Given the description of an element on the screen output the (x, y) to click on. 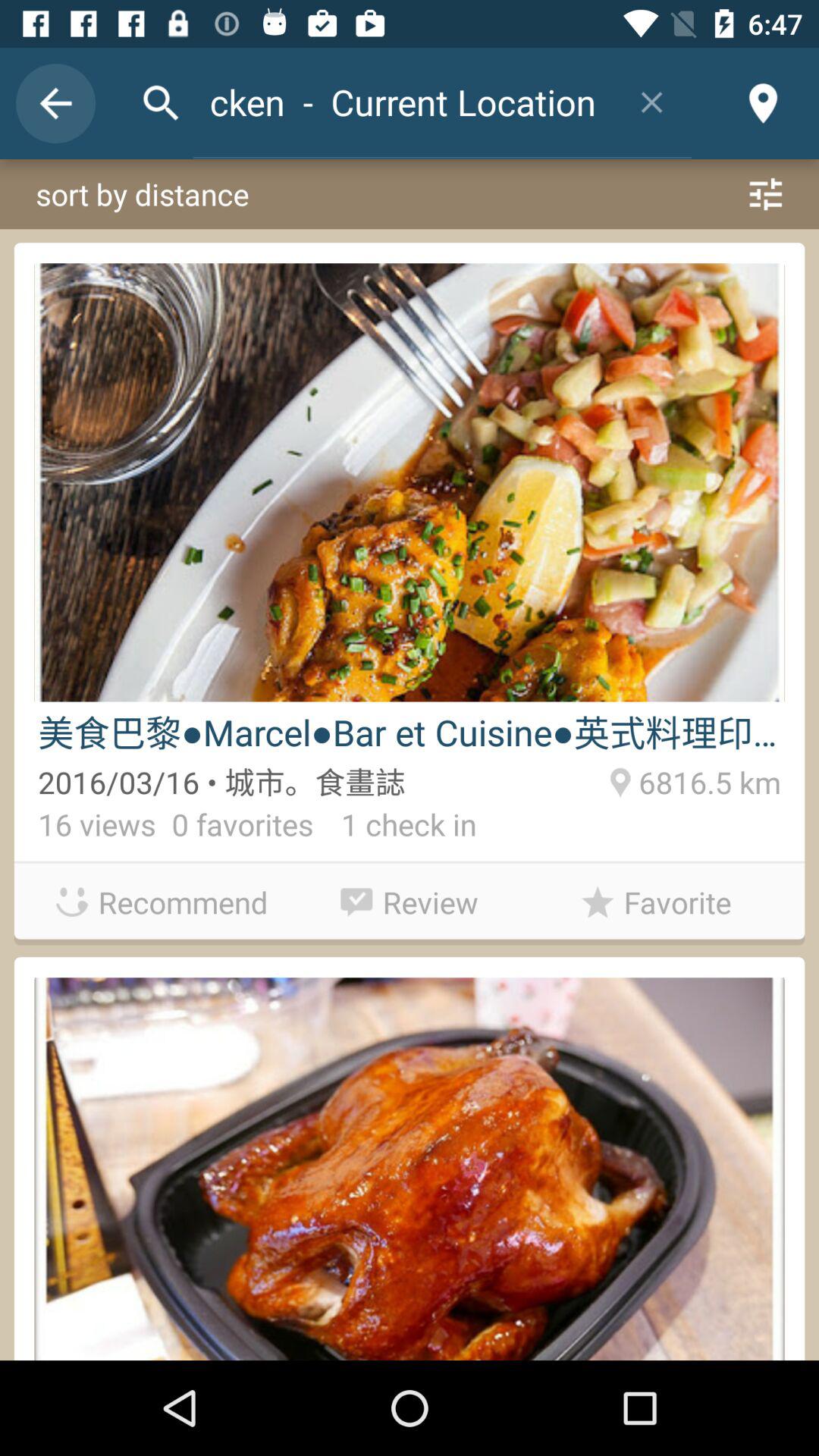
turn on item to the right of the recommend item (409, 898)
